Given the description of an element on the screen output the (x, y) to click on. 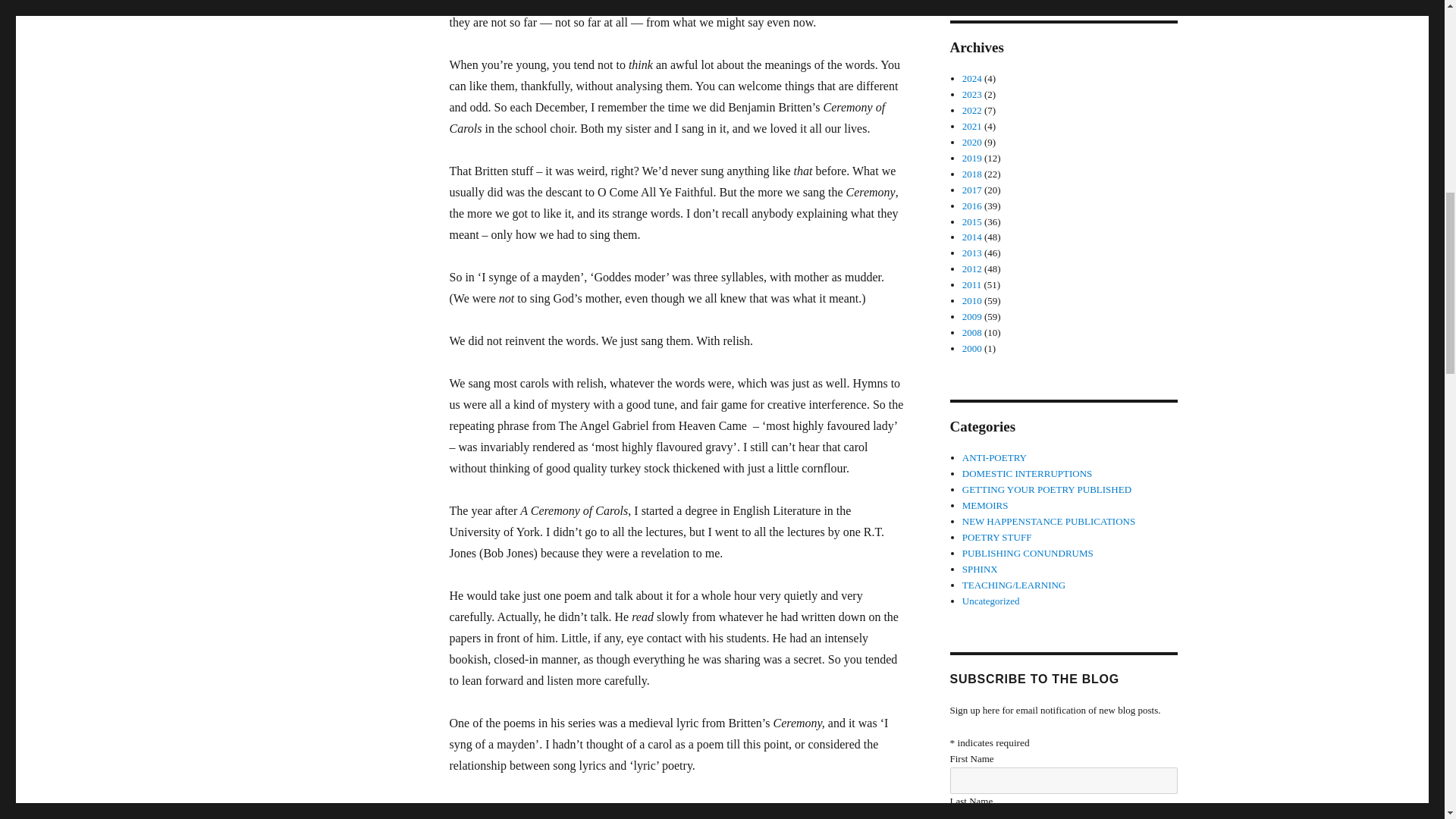
2017 (971, 189)
2021 (971, 125)
2020 (971, 142)
2016 (971, 205)
2014 (971, 236)
2018 (971, 173)
2023 (971, 93)
2022 (971, 110)
2015 (971, 220)
2024 (971, 78)
